Given the description of an element on the screen output the (x, y) to click on. 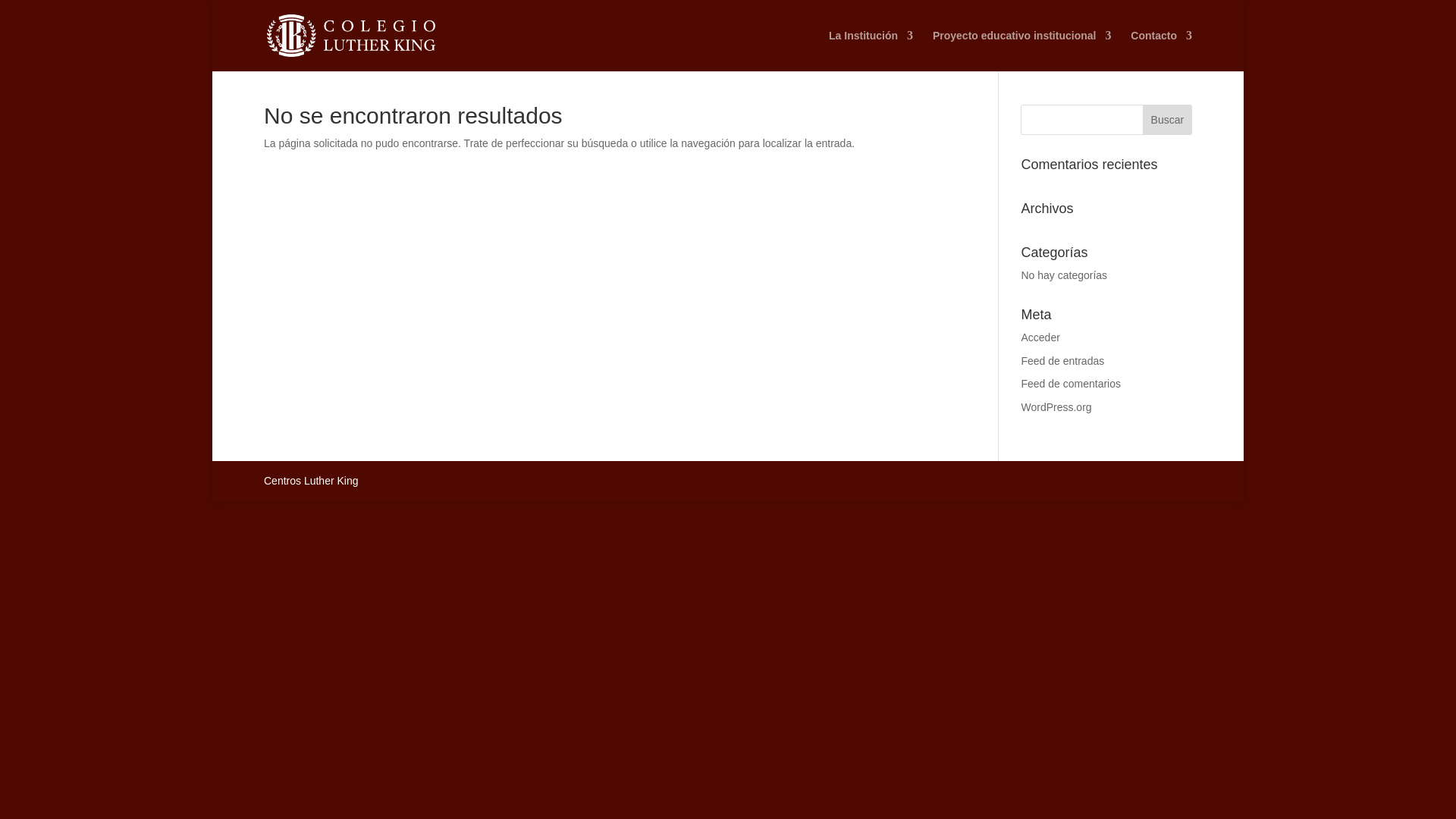
Proyecto educativo institucional (1022, 50)
Buscar (1167, 119)
WordPress.org (1055, 407)
Contacto (1161, 50)
Buscar (1167, 119)
Feed de comentarios (1070, 383)
Feed de entradas (1061, 360)
Acceder (1039, 337)
